Given the description of an element on the screen output the (x, y) to click on. 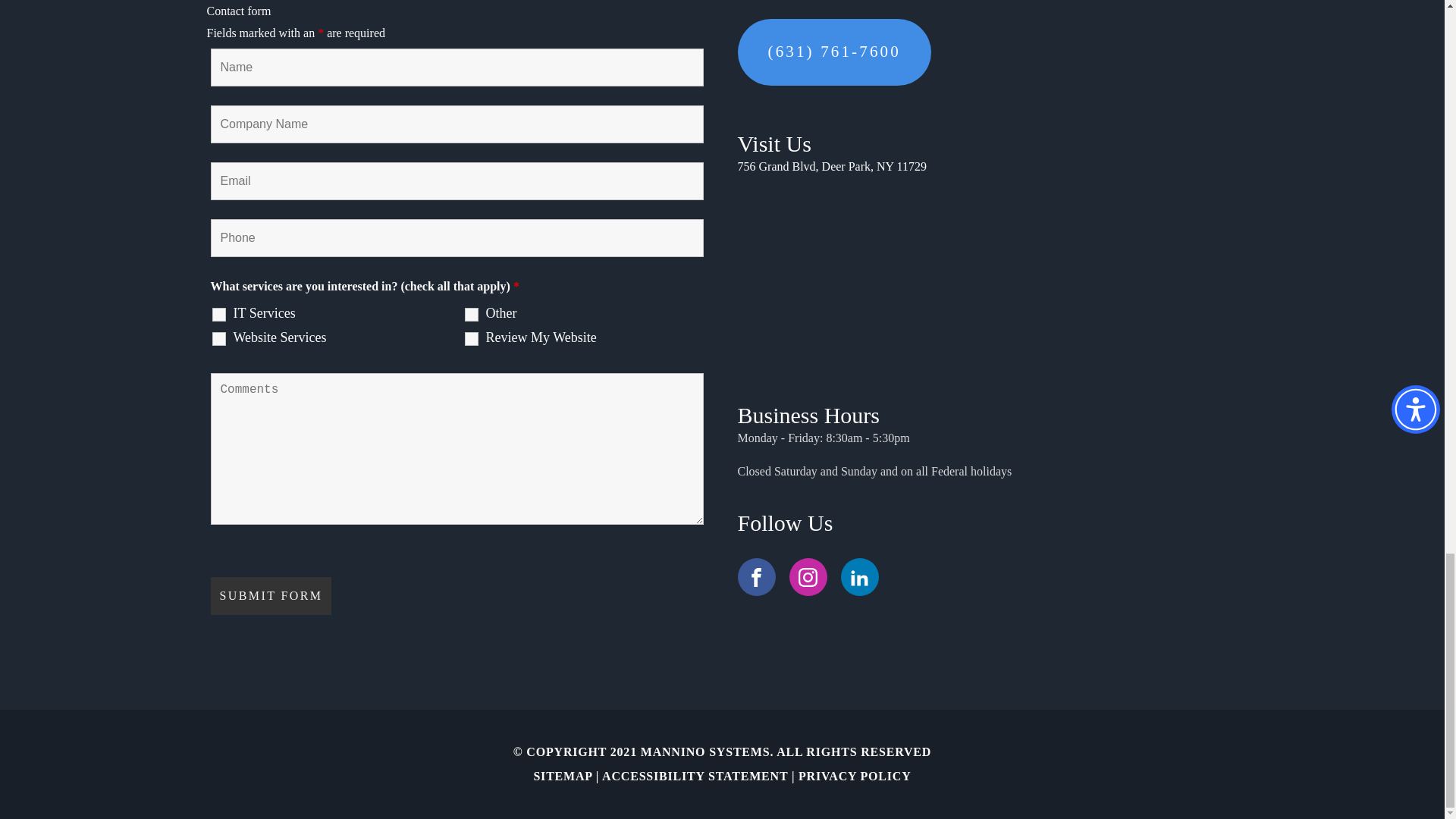
Submit Form (271, 596)
